Given the description of an element on the screen output the (x, y) to click on. 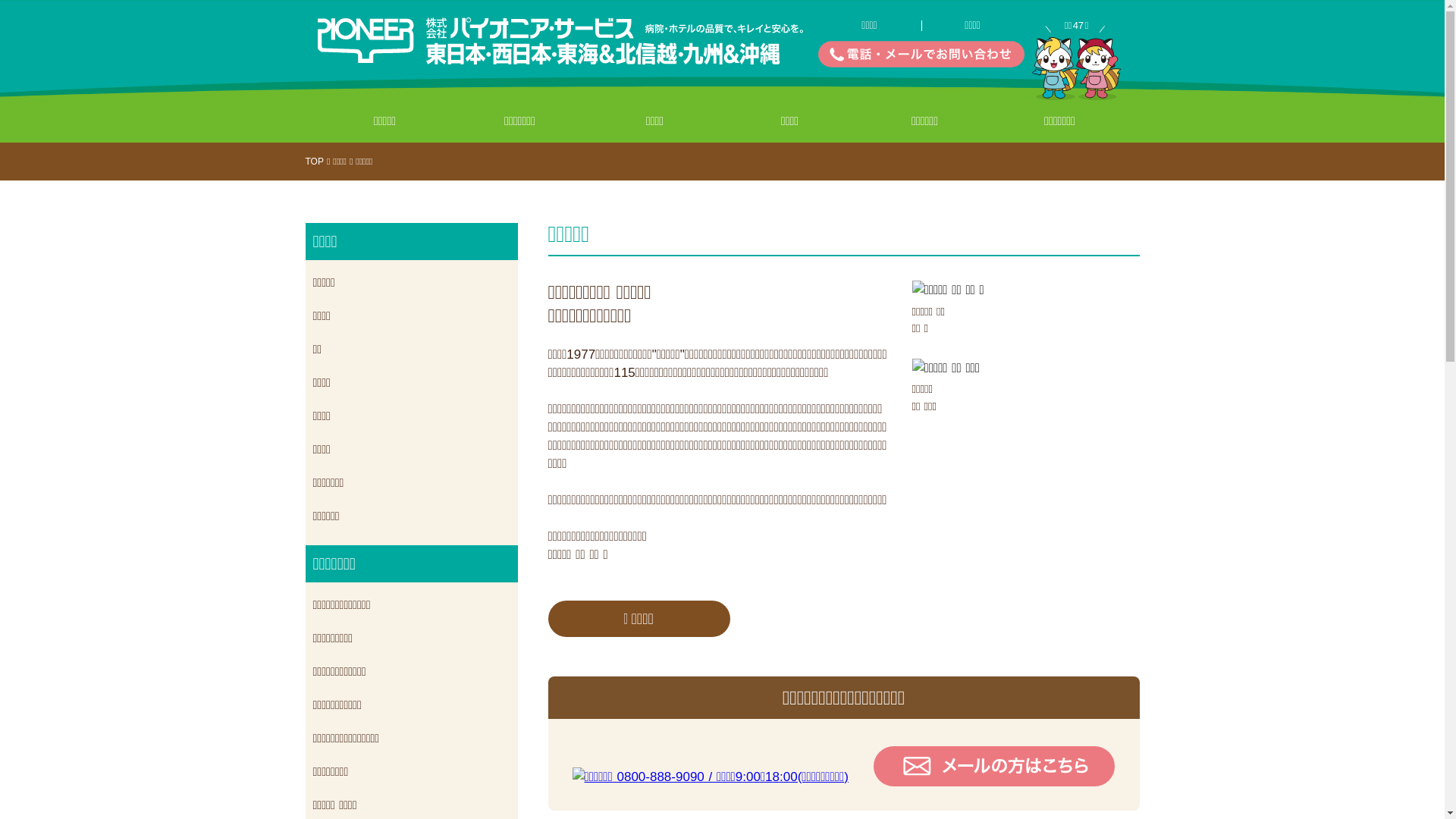
TOP Element type: text (313, 161)
